Given the description of an element on the screen output the (x, y) to click on. 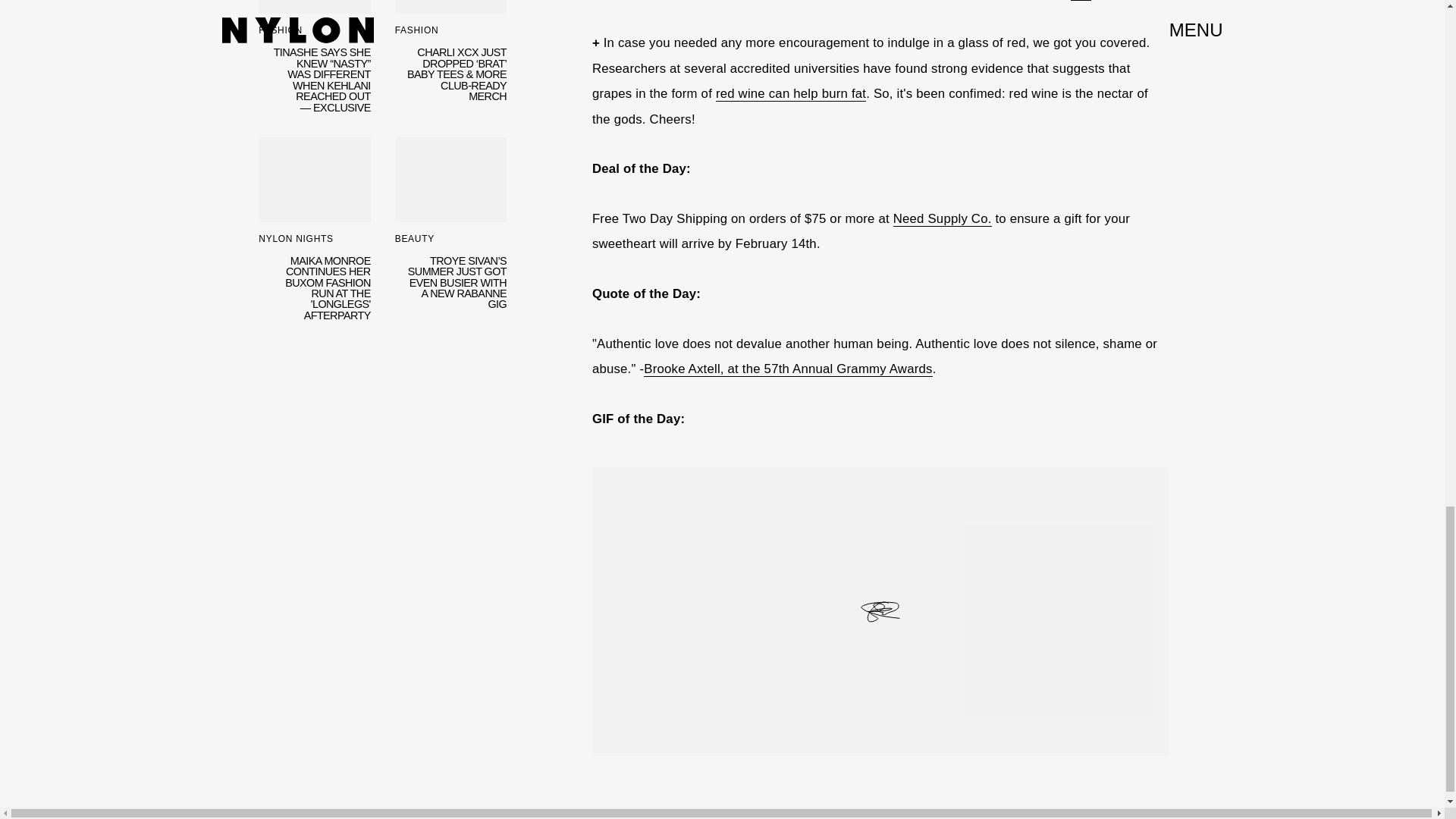
Brooke Axtell, at the 57th Annual Grammy Awards (787, 368)
Need Supply Co. (942, 218)
red wine can help burn fat (791, 93)
